Given the description of an element on the screen output the (x, y) to click on. 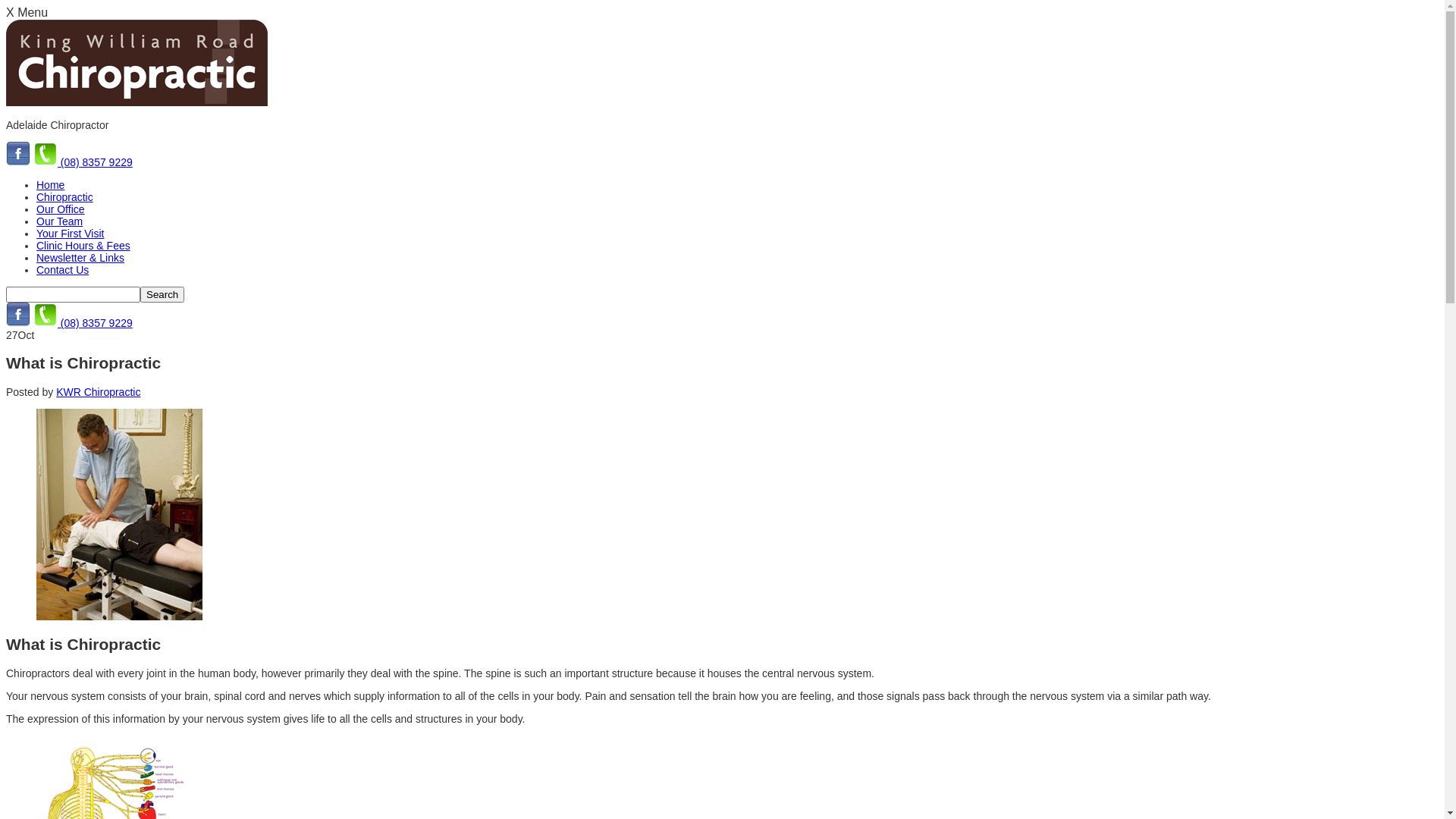
KWR Chiropractic Element type: text (98, 391)
Our Office Element type: text (60, 209)
Newsletter & Links Element type: text (80, 257)
Menu Element type: text (32, 12)
(08) 8357 9229 Element type: text (82, 322)
Contact Us Element type: text (62, 269)
(08) 8357 9229 Element type: text (82, 162)
Your First Visit Element type: text (69, 233)
X Element type: text (10, 12)
Home Element type: text (50, 184)
Adelaide Chiropractor Element type: hover (136, 62)
Chiropractic Element type: text (64, 197)
Clinic Hours & Fees Element type: text (83, 245)
Our Team Element type: text (59, 221)
Search Element type: text (162, 294)
